Given the description of an element on the screen output the (x, y) to click on. 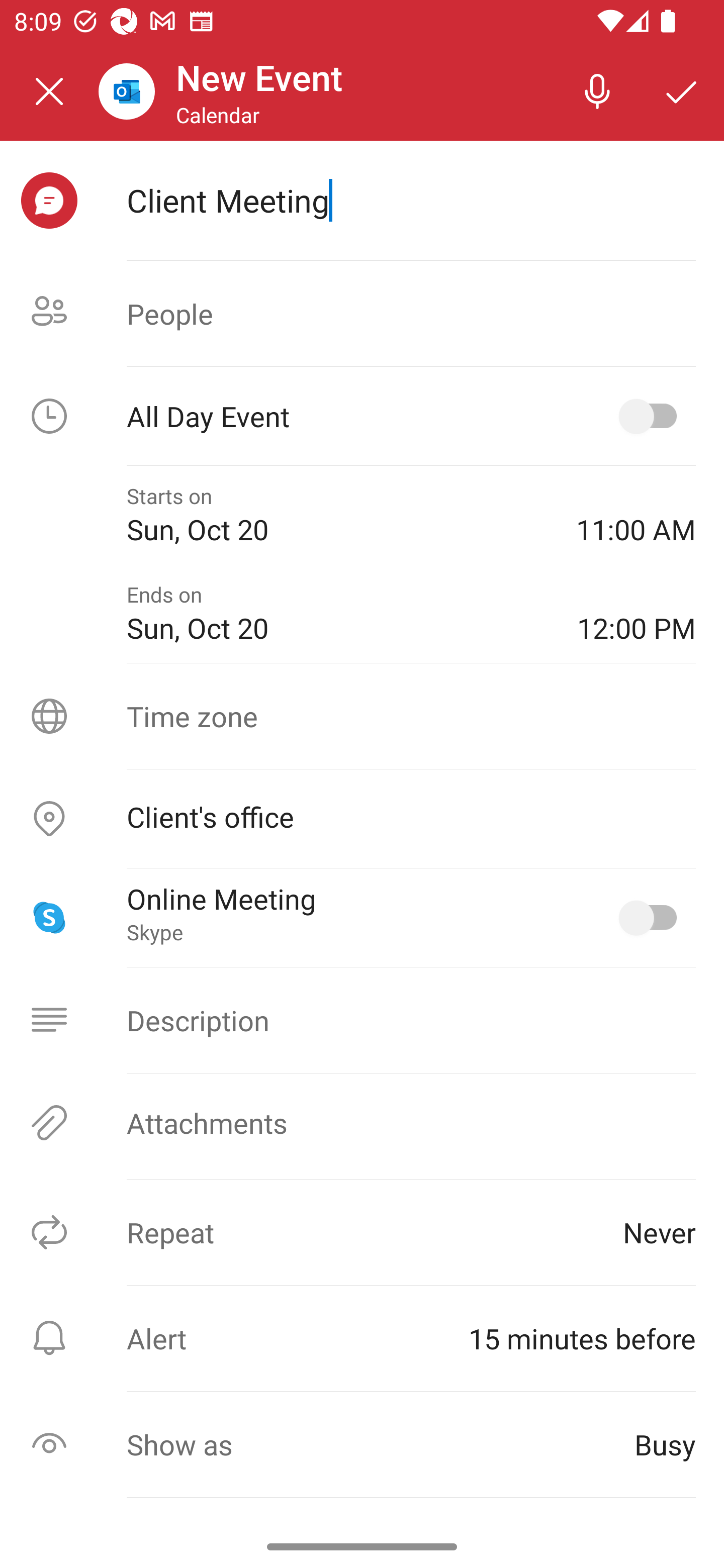
Close (49, 91)
Save (681, 90)
Client Meeting (410, 200)
meeting selected, event icon picker (48, 200)
People (362, 313)
All Day Event (362, 415)
Starts on Sun, Oct 20 (336, 514)
11:00 AM (635, 514)
Ends on Sun, Oct 20 (337, 613)
12:00 PM (636, 613)
Time zone (362, 715)
Location, Client's office Client's office (362, 818)
Online Meeting, Skype selected (651, 917)
Description (362, 1019)
Attachments (362, 1122)
Repeat Never (362, 1232)
Alert ⁨15 minutes before (362, 1337)
Show as Busy (362, 1444)
